Given the description of an element on the screen output the (x, y) to click on. 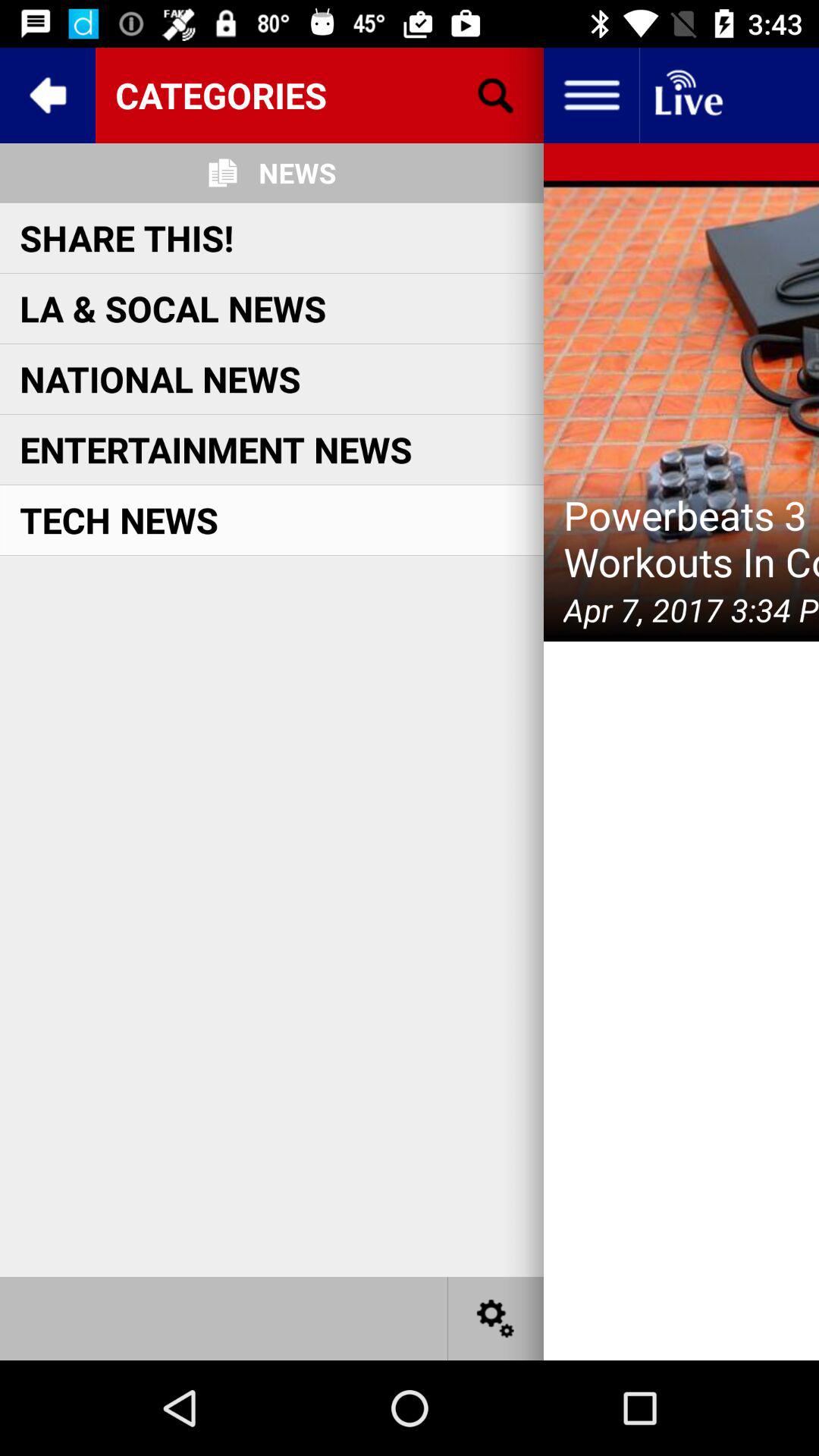
jump to the share this! icon (126, 237)
